Given the description of an element on the screen output the (x, y) to click on. 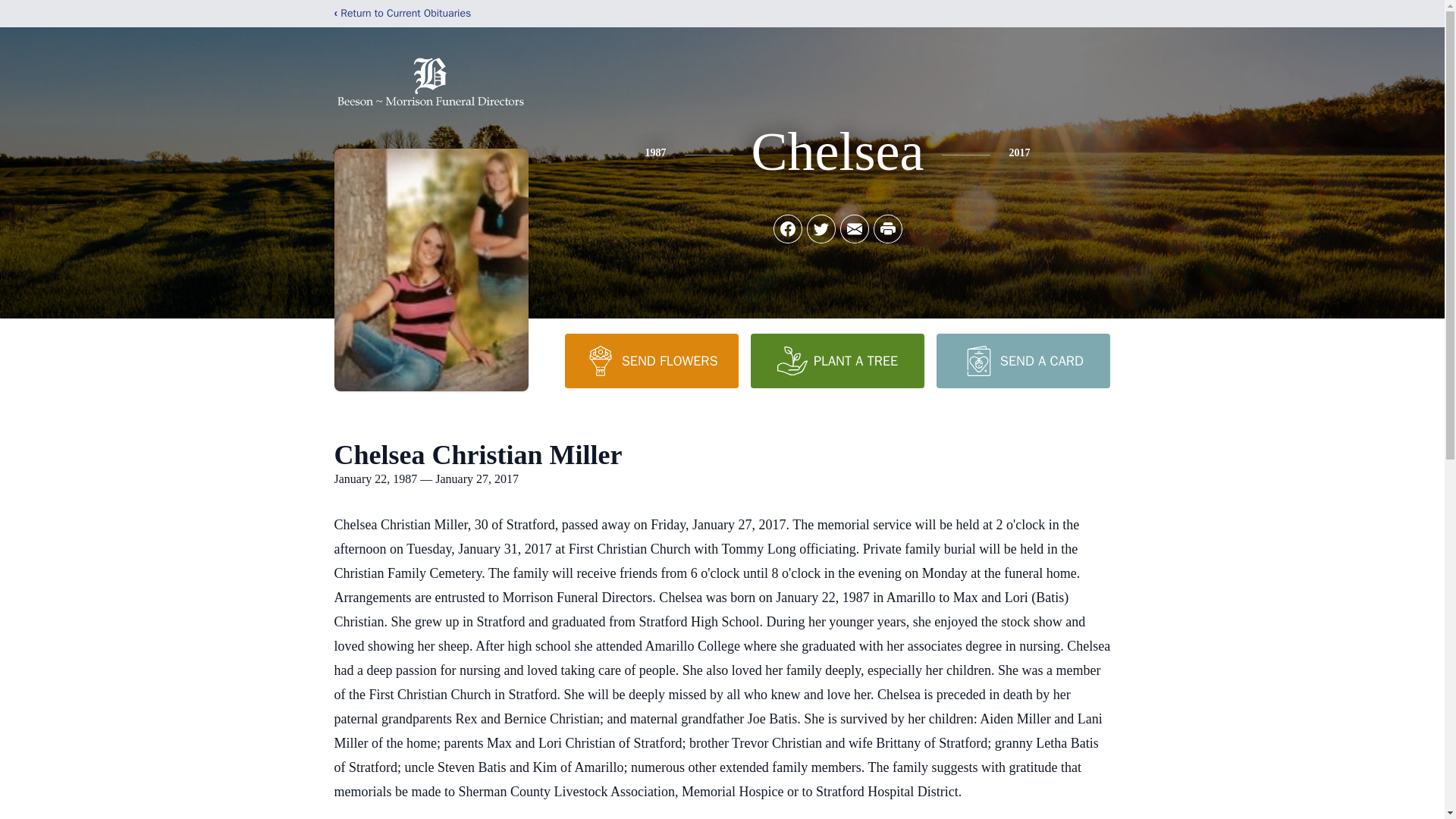
SEND A CARD (1022, 360)
SEND FLOWERS (651, 360)
PLANT A TREE (837, 360)
